Given the description of an element on the screen output the (x, y) to click on. 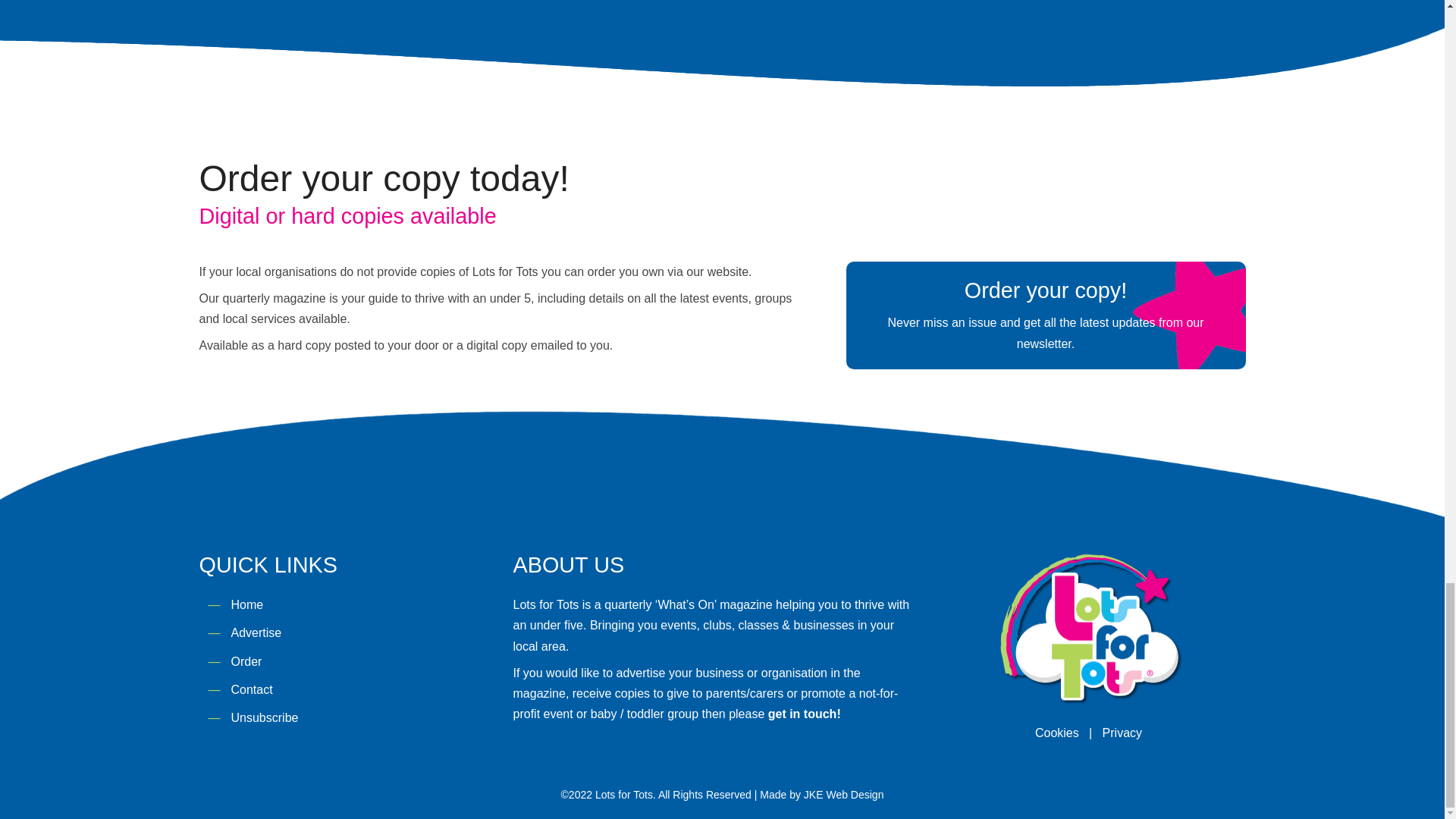
Home (246, 604)
Unsubscribe (264, 717)
JKE Web Design (843, 794)
Lots for Tots (1087, 628)
Order (246, 661)
Advertise (255, 632)
get in touch! (804, 713)
Cookies (1056, 732)
Contact (251, 689)
Privacy (1121, 732)
